Given the description of an element on the screen output the (x, y) to click on. 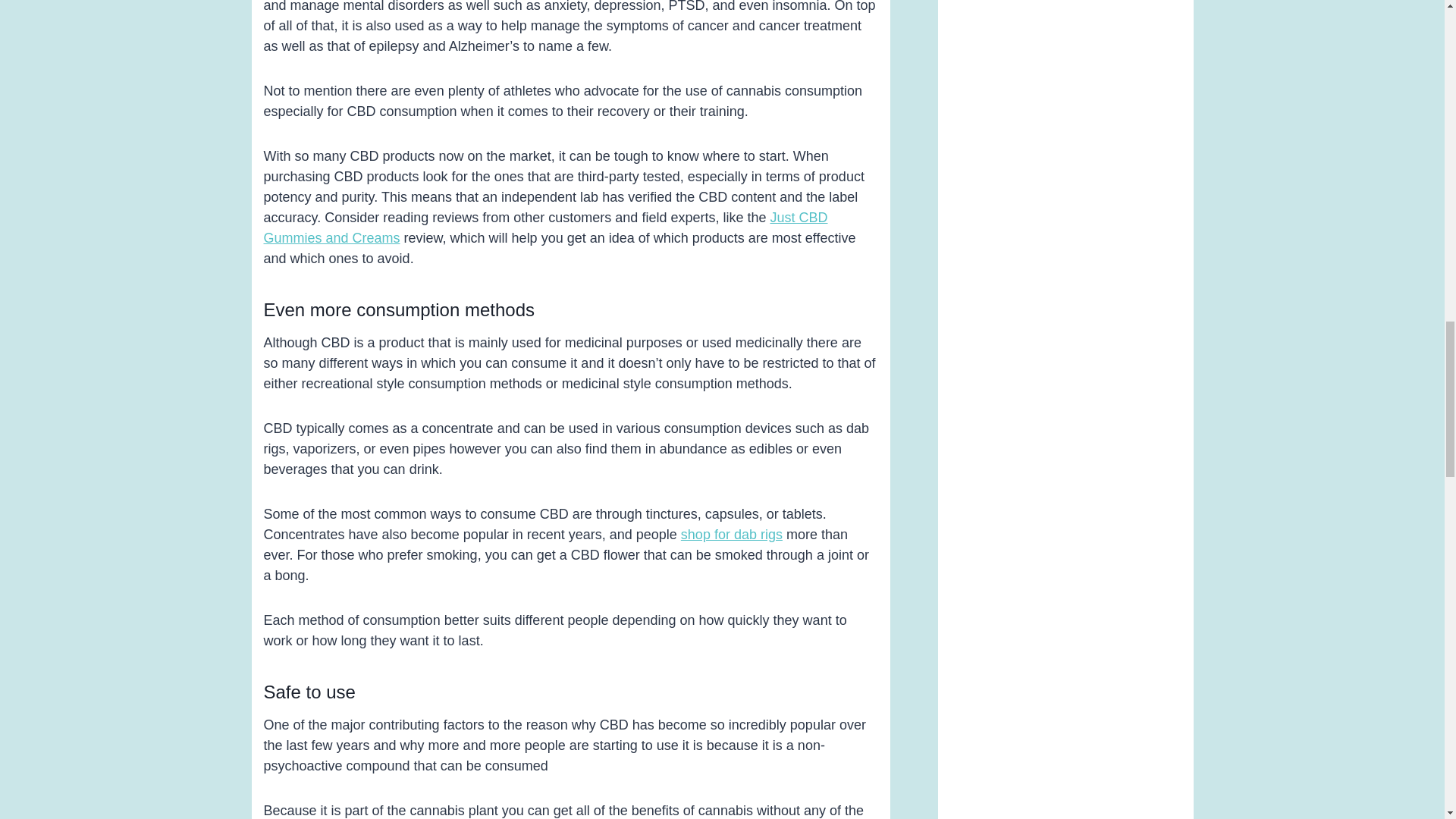
Just CBD Gummies and Creams (545, 227)
shop for dab rigs (732, 534)
